Given the description of an element on the screen output the (x, y) to click on. 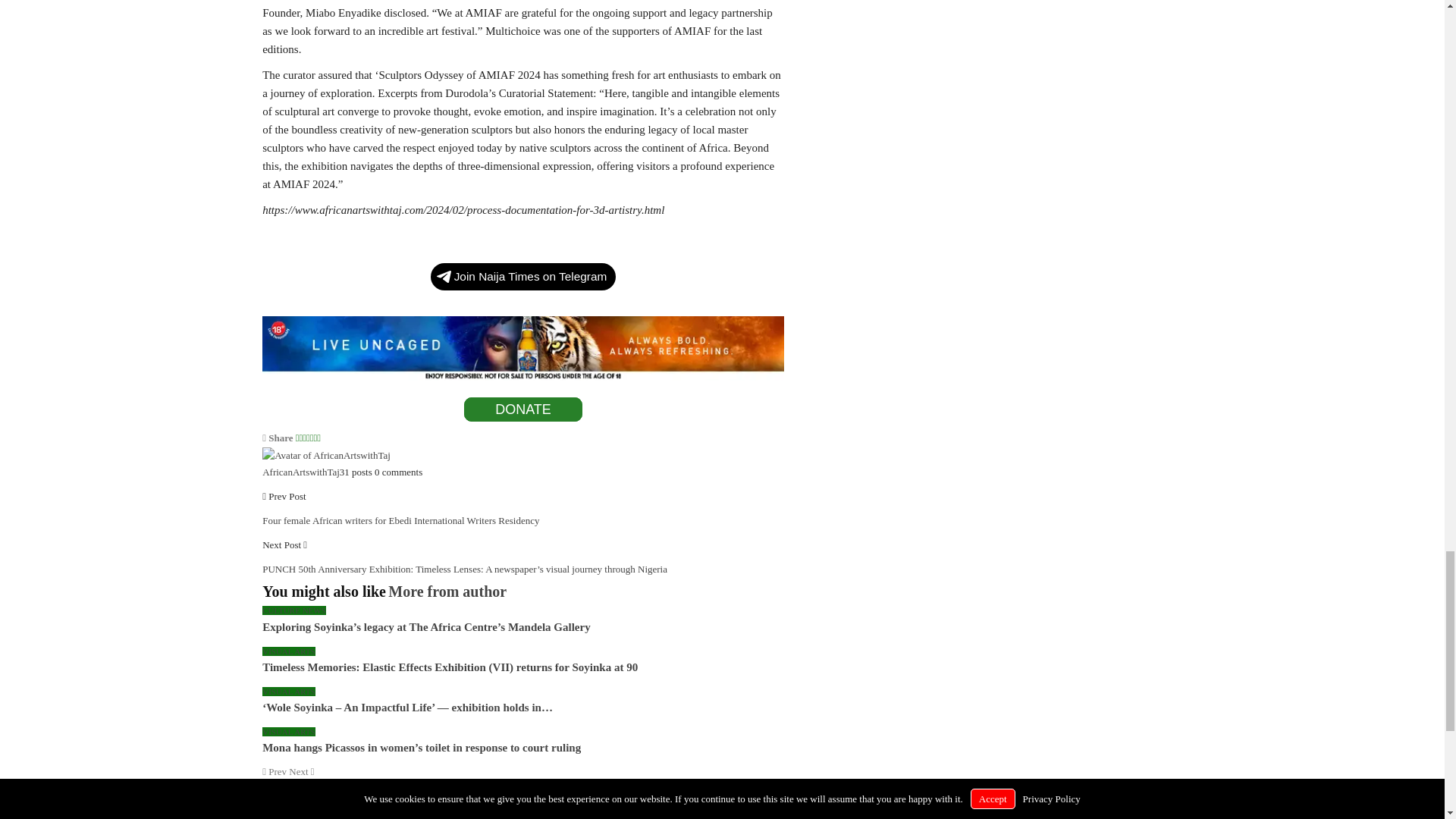
Previous (275, 771)
Browse Author Articles (326, 454)
Next (301, 771)
